Given the description of an element on the screen output the (x, y) to click on. 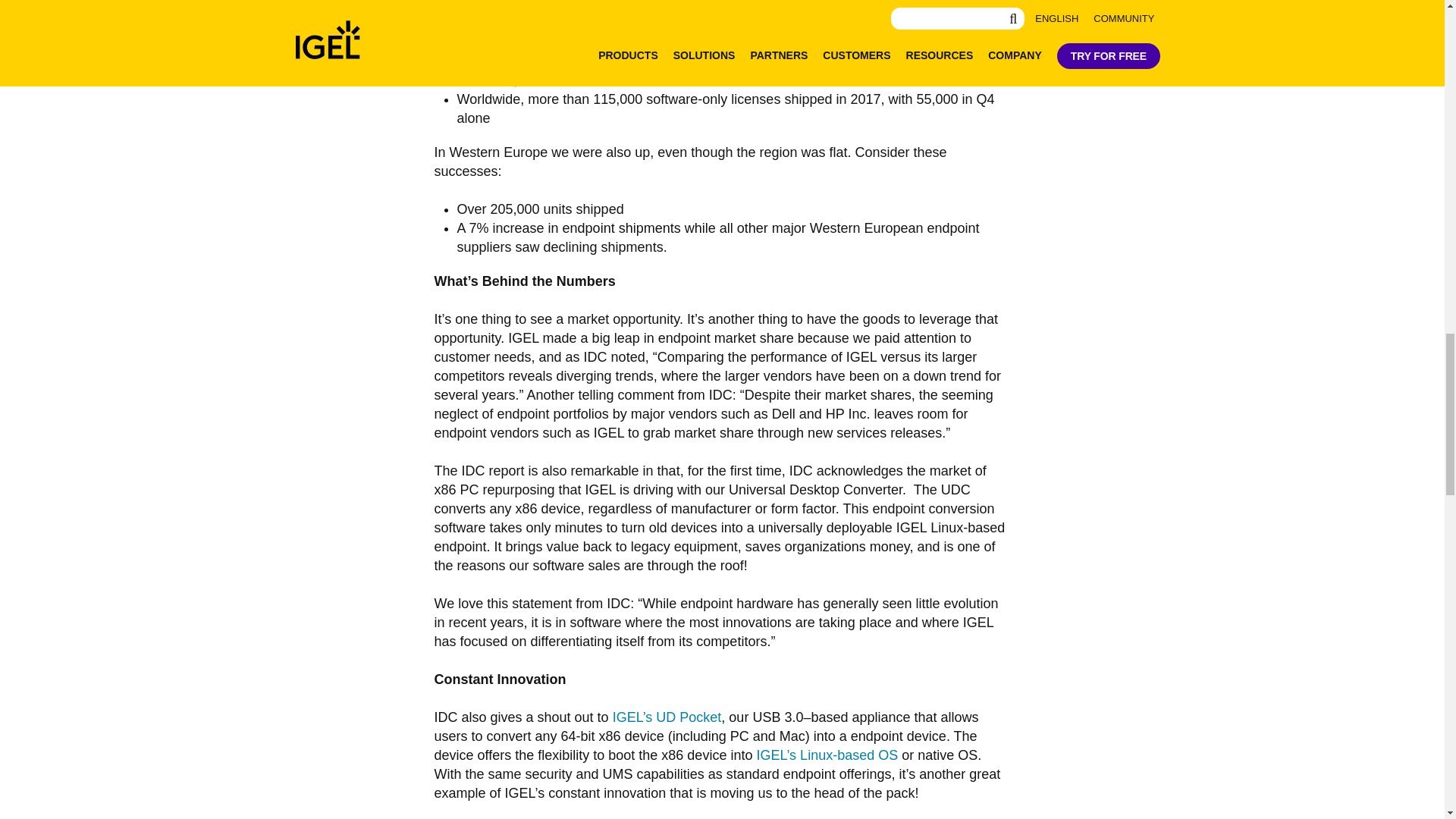
UD Pocket (667, 717)
IGEL OS (826, 754)
